Given the description of an element on the screen output the (x, y) to click on. 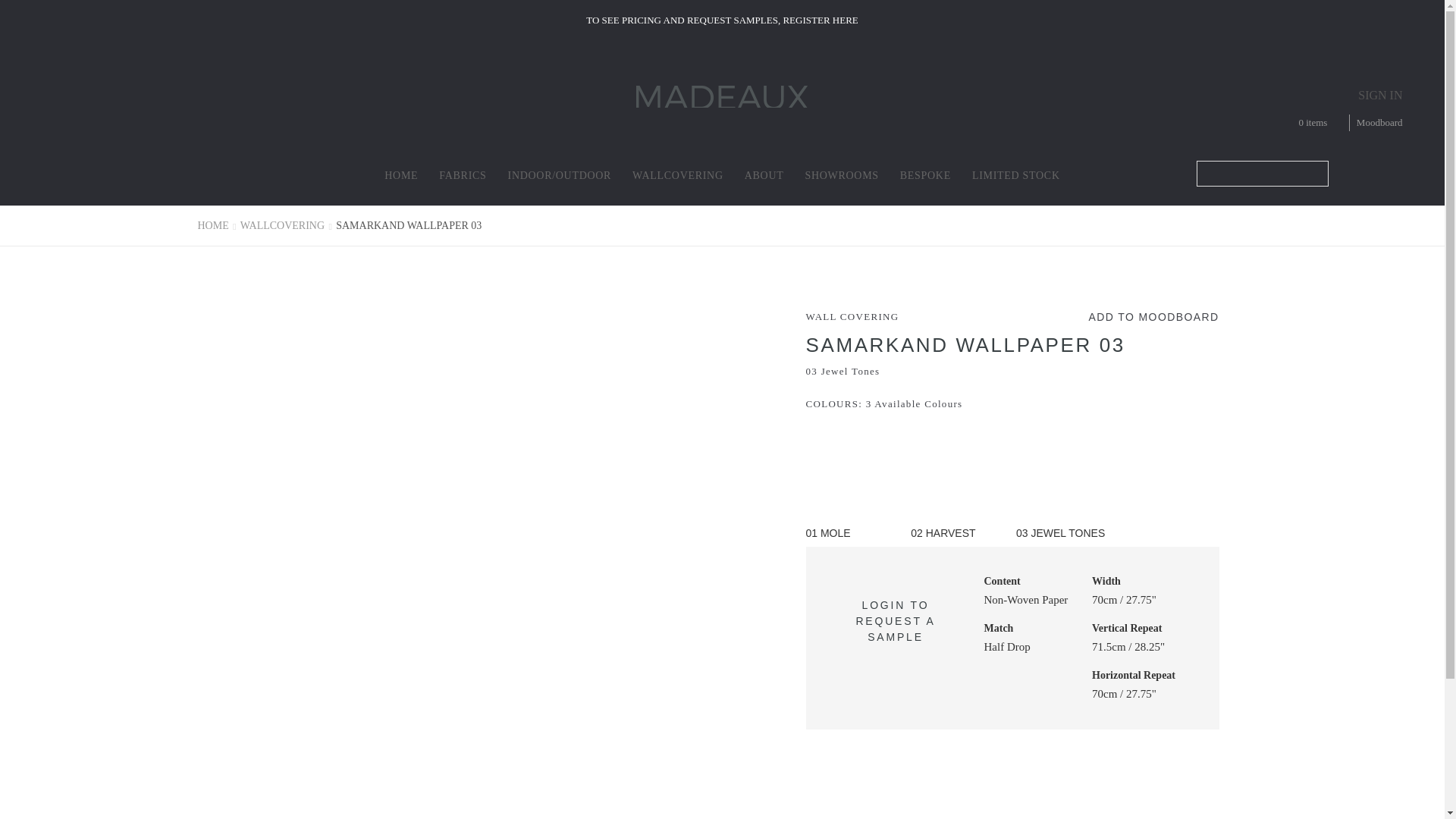
FABRICS (462, 174)
HOME (400, 174)
View your shopping basket (1303, 122)
Moodboard (1376, 122)
SIGN IN (1380, 94)
Sign in (1380, 94)
TO SEE PRICING AND REQUEST SAMPLES, REGISTER HERE (722, 19)
WALLCOVERING (677, 174)
0 items (1303, 122)
